Given the description of an element on the screen output the (x, y) to click on. 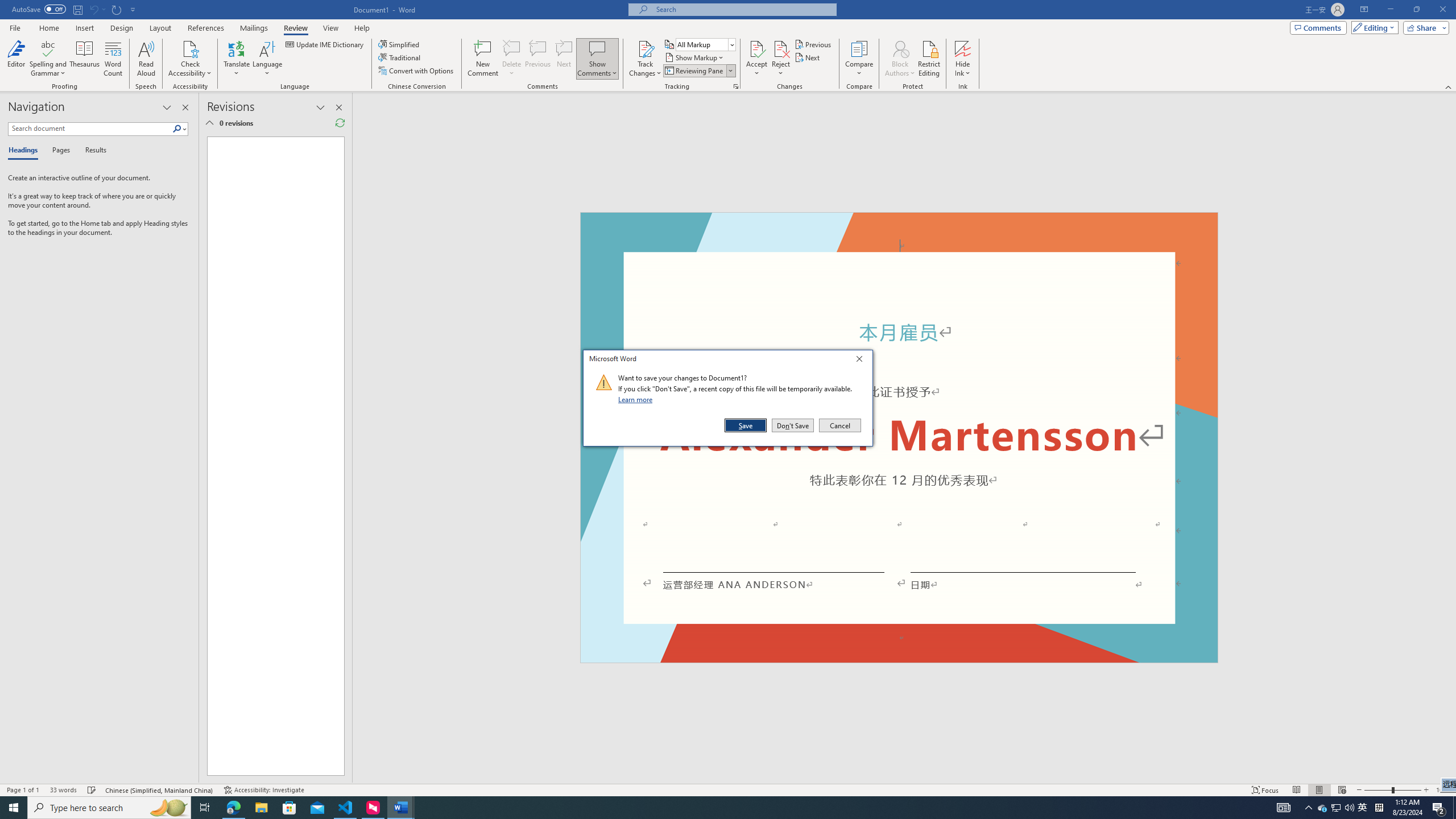
Customize Quick Access Toolbar (133, 9)
File Explorer (261, 807)
Show Detailed Summary (209, 122)
Track Changes (644, 58)
AutoSave (38, 9)
Cancel (839, 425)
Search highlights icon opens search home window (167, 807)
Home (48, 28)
Footer -Section 1- (898, 657)
More Options (962, 68)
Restore Down (1416, 9)
Class: NetUIImage (603, 382)
Next (808, 56)
